Given the description of an element on the screen output the (x, y) to click on. 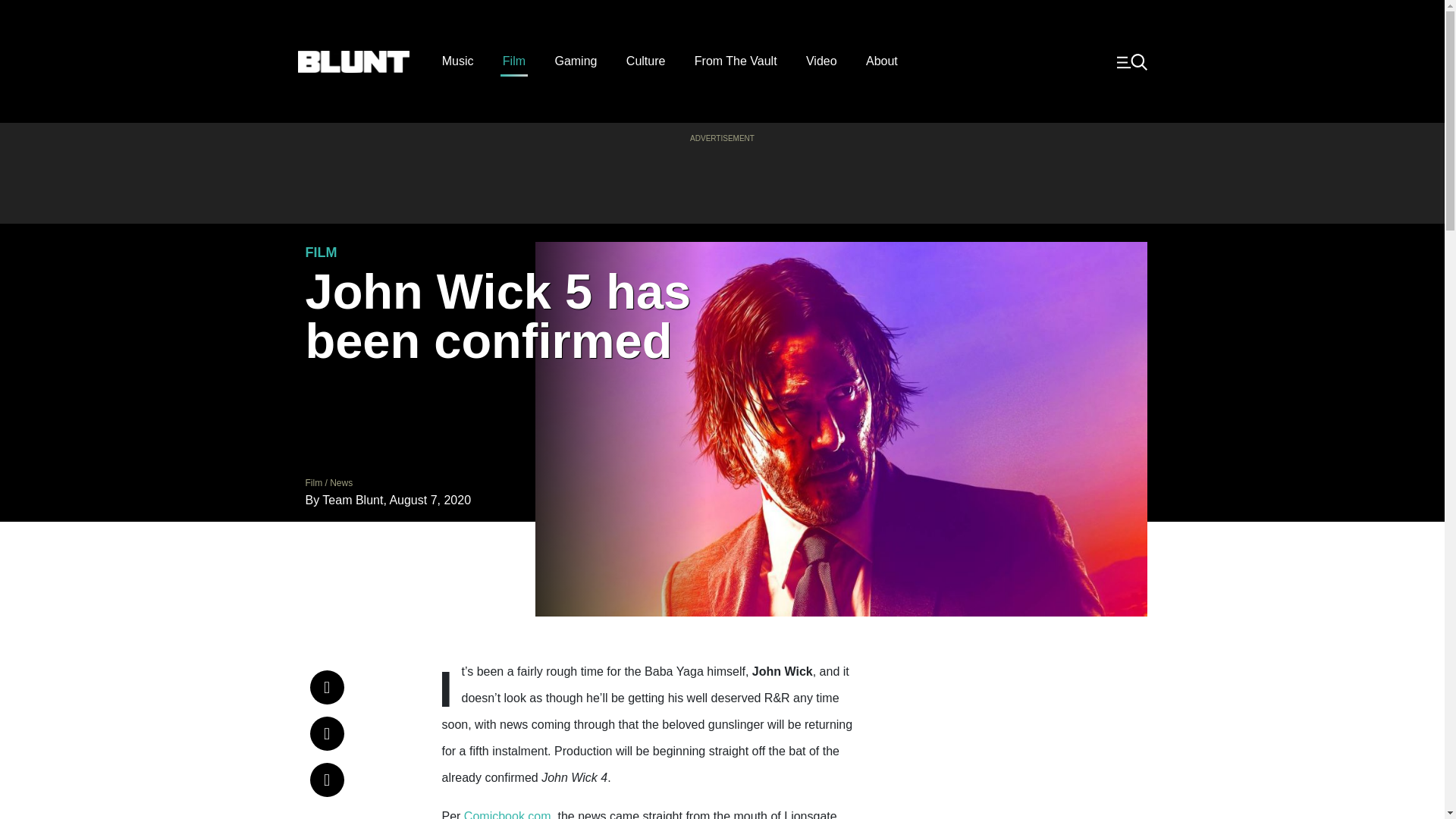
Music (457, 61)
Gaming (575, 61)
Team Blunt (351, 499)
Video (821, 61)
Gaming (575, 61)
From The Vault (735, 61)
From The Vault (735, 61)
Culture (645, 61)
Film (312, 482)
Culture (645, 61)
